Given the description of an element on the screen output the (x, y) to click on. 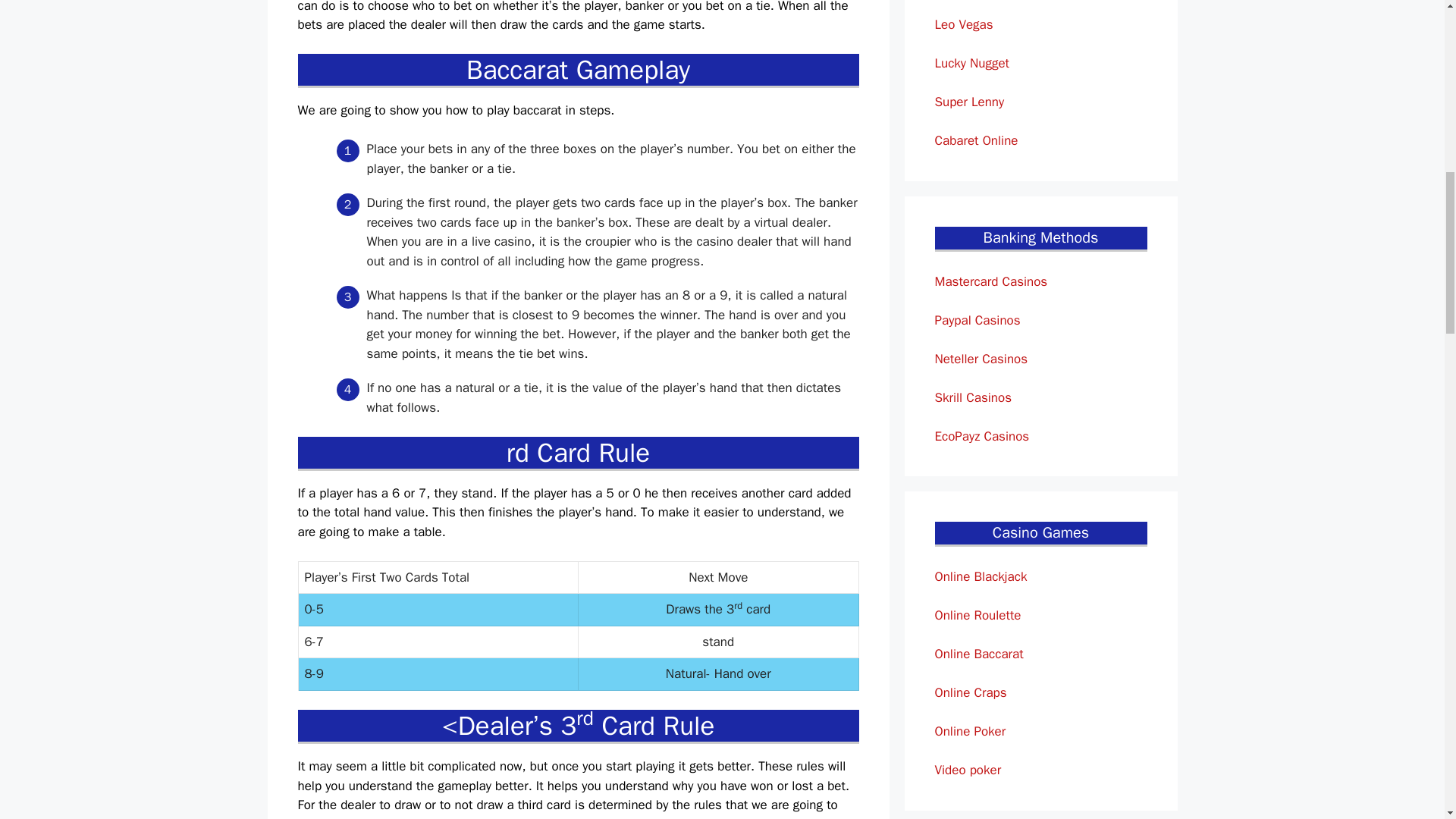
Leo Vegas (963, 24)
Super Lenny (969, 101)
Baccarat Gameplay (578, 69)
Neteller Casinos (980, 358)
Cabaret Online (975, 140)
Paypal Casinos (977, 320)
Lucky Nugget (971, 63)
Mastercard Casinos (990, 280)
